Given the description of an element on the screen output the (x, y) to click on. 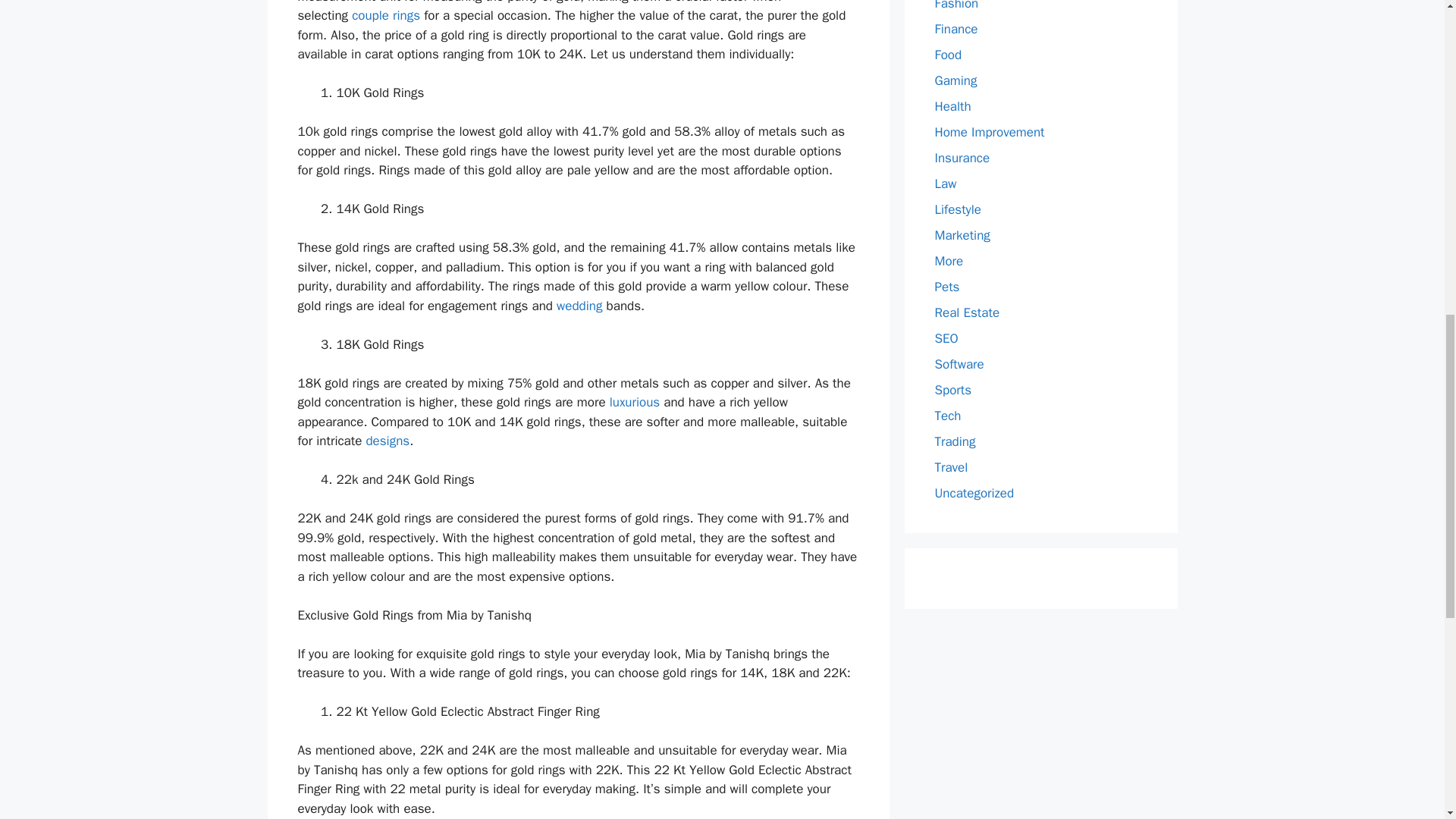
wedding (579, 305)
designs (387, 440)
couple rings (386, 15)
luxurious (633, 401)
